Given the description of an element on the screen output the (x, y) to click on. 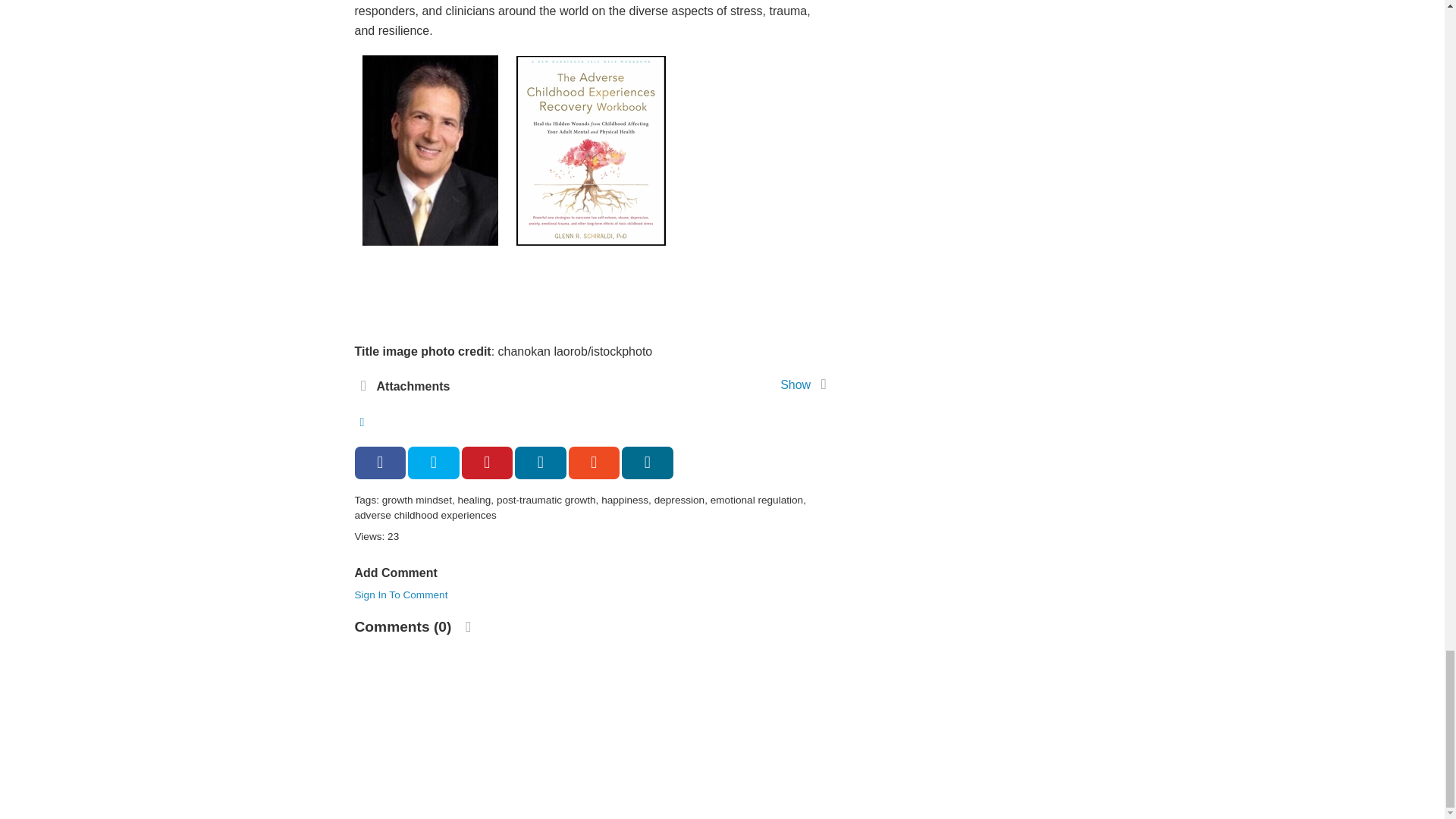
Schiraldi.head copy (430, 153)
Cover With Border copy (590, 153)
Show (795, 384)
